Given the description of an element on the screen output the (x, y) to click on. 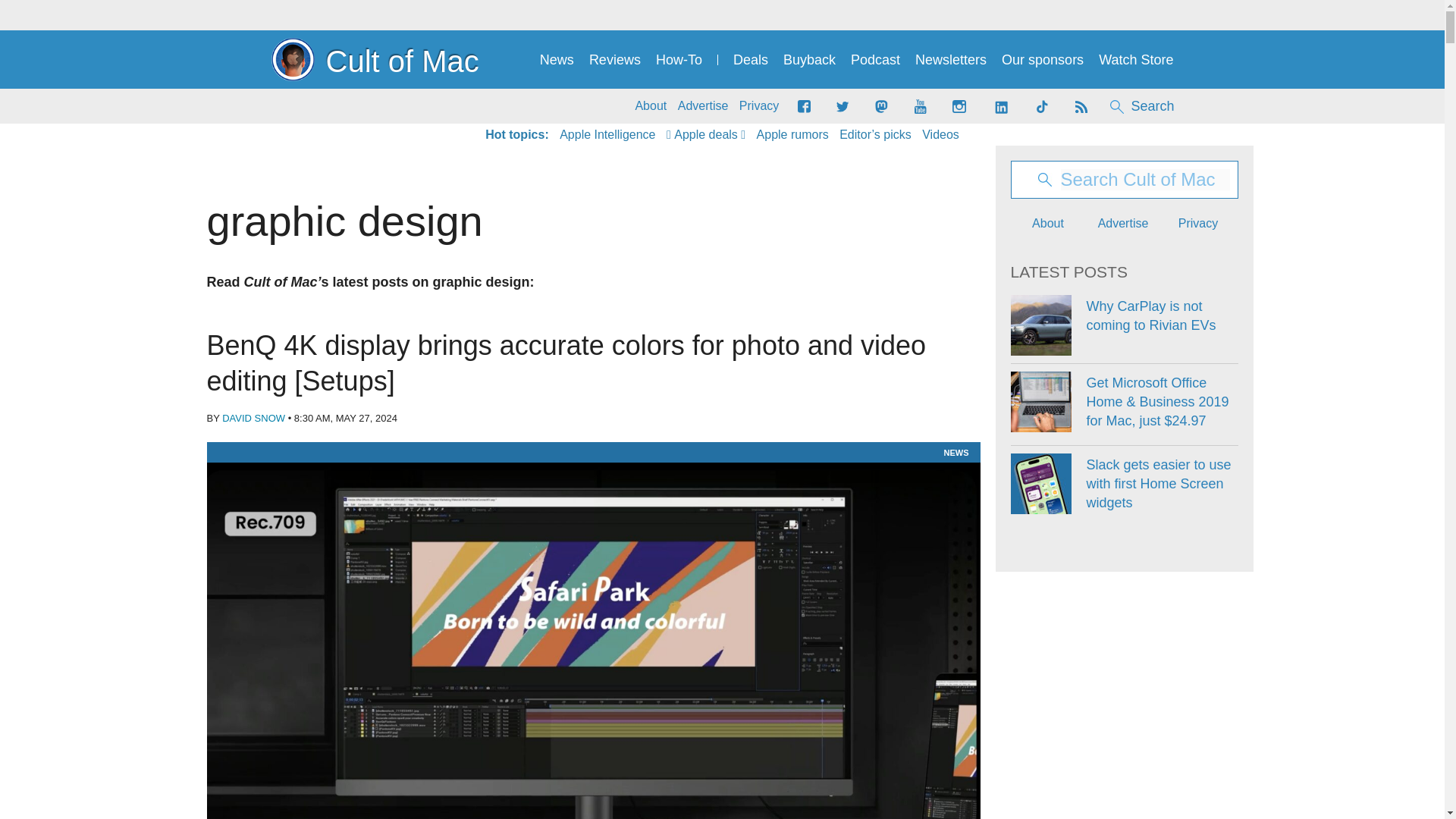
Deals (750, 59)
Reviews (613, 59)
Cult of Mac (374, 59)
Apple Intelligence (607, 134)
Buyback (809, 59)
About (650, 105)
Apple Intelligence (607, 134)
Apple deals  (705, 134)
Apple rumors (792, 134)
Videos (940, 134)
Apple legal battles (792, 134)
Posts by David Snow (253, 418)
Our sponsors (1042, 59)
Newsletters (950, 59)
Videos (940, 134)
